Given the description of an element on the screen output the (x, y) to click on. 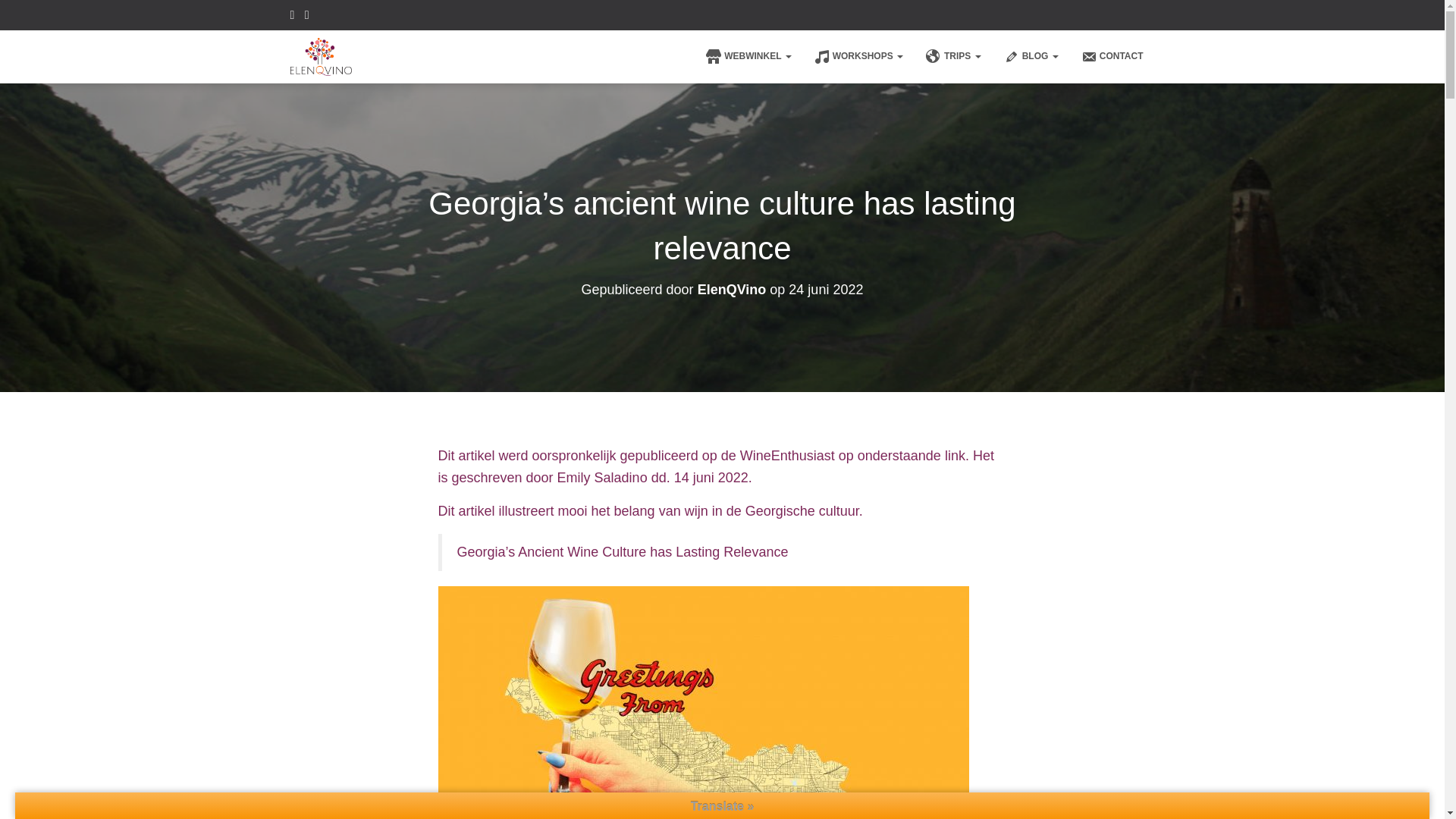
WEBWINKEL (748, 56)
ElenQVino (321, 56)
Mijn account (1145, 45)
TRIPS (953, 56)
WORKSHOPS (858, 56)
Blog (1031, 56)
Trips (953, 56)
CONTACT (1112, 56)
ElenQVino (732, 289)
Workshops (858, 56)
